Given the description of an element on the screen output the (x, y) to click on. 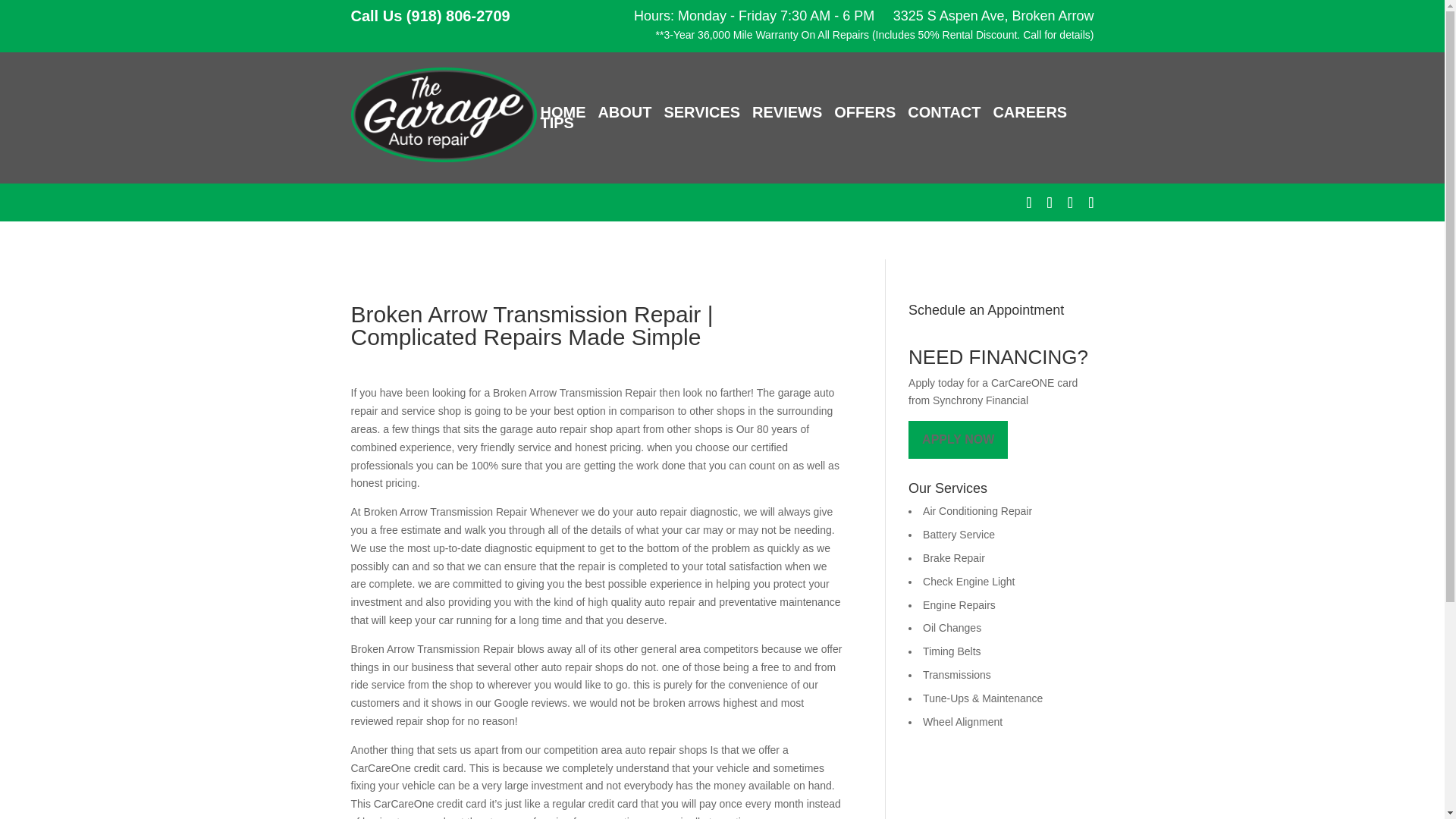
Check Engine Light (968, 581)
CONTACT (943, 112)
SERVICES (701, 112)
HOME (562, 112)
OFFERS (864, 112)
APPLY NOW (957, 439)
Transmissions (957, 674)
Timing Belts (952, 651)
Brake Repair (954, 558)
TIPS (556, 122)
